Given the description of an element on the screen output the (x, y) to click on. 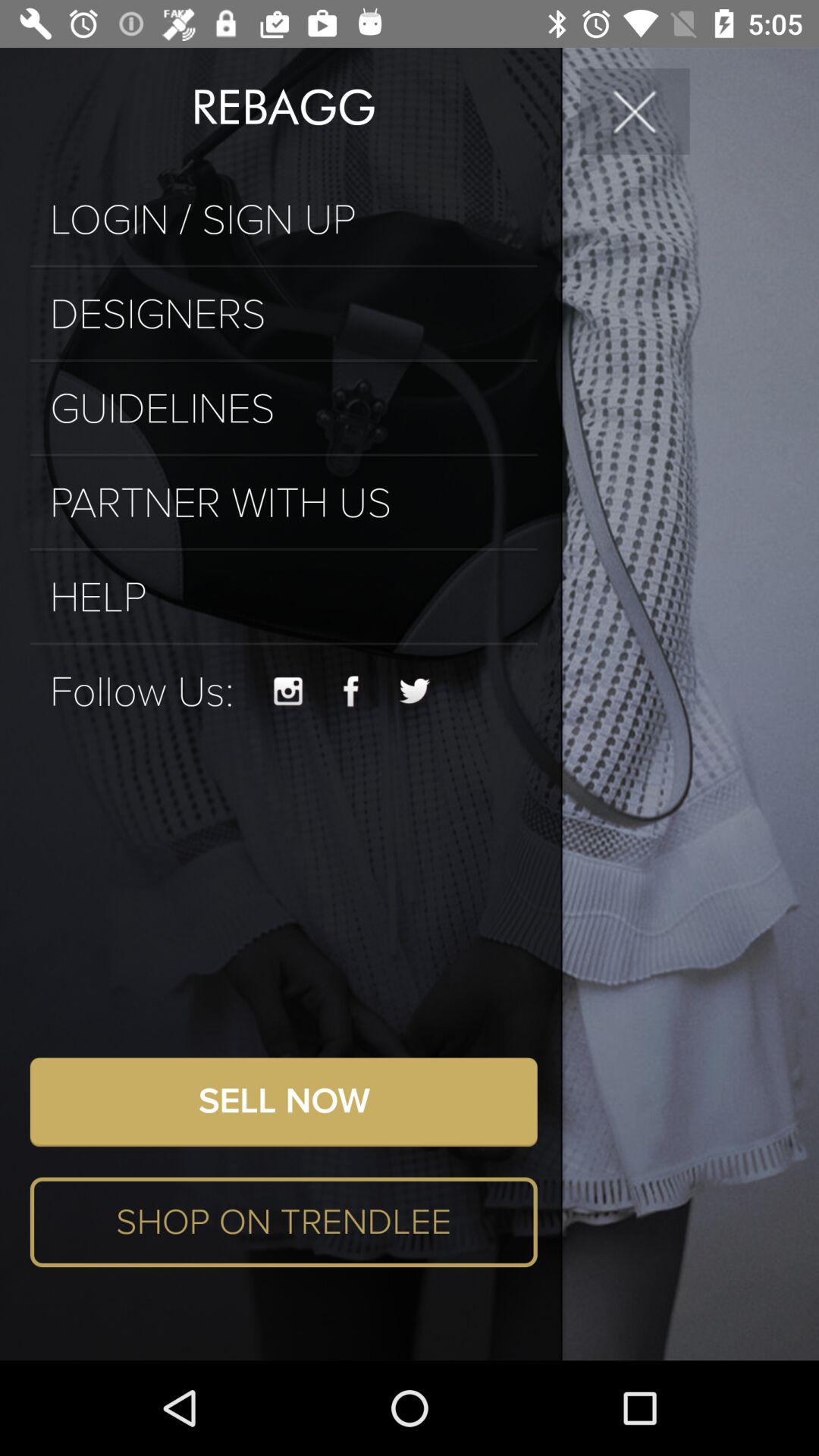
click to close option (634, 110)
